Given the description of an element on the screen output the (x, y) to click on. 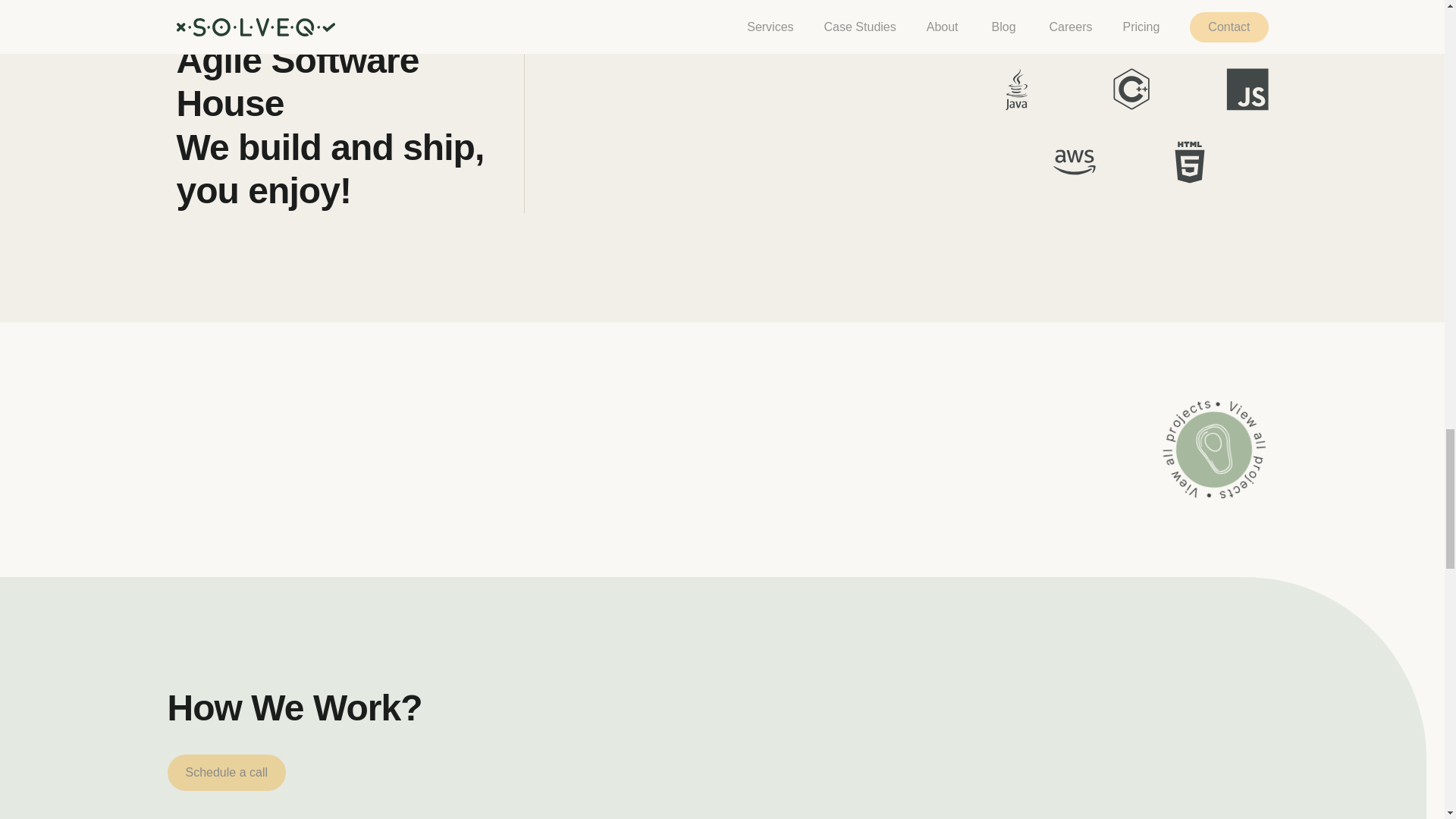
Schedule a call (226, 772)
Schedule a call (225, 771)
